Given the description of an element on the screen output the (x, y) to click on. 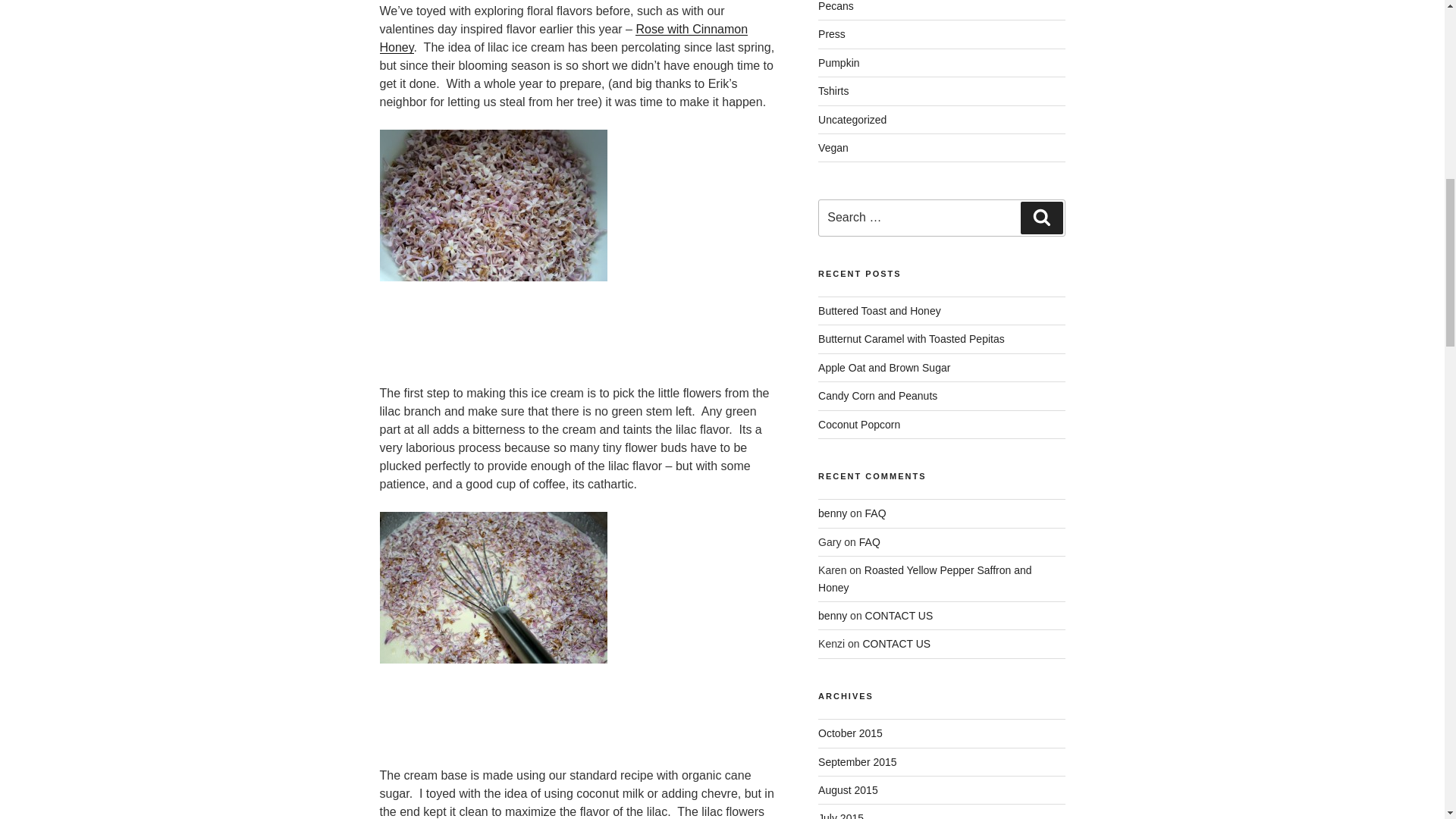
Pecans (835, 6)
Vegan (833, 147)
Uncategorized (852, 119)
Tshirts (833, 91)
Rose with Cinnamon Honey (563, 38)
Pumpkin (838, 62)
Press (831, 33)
